Given the description of an element on the screen output the (x, y) to click on. 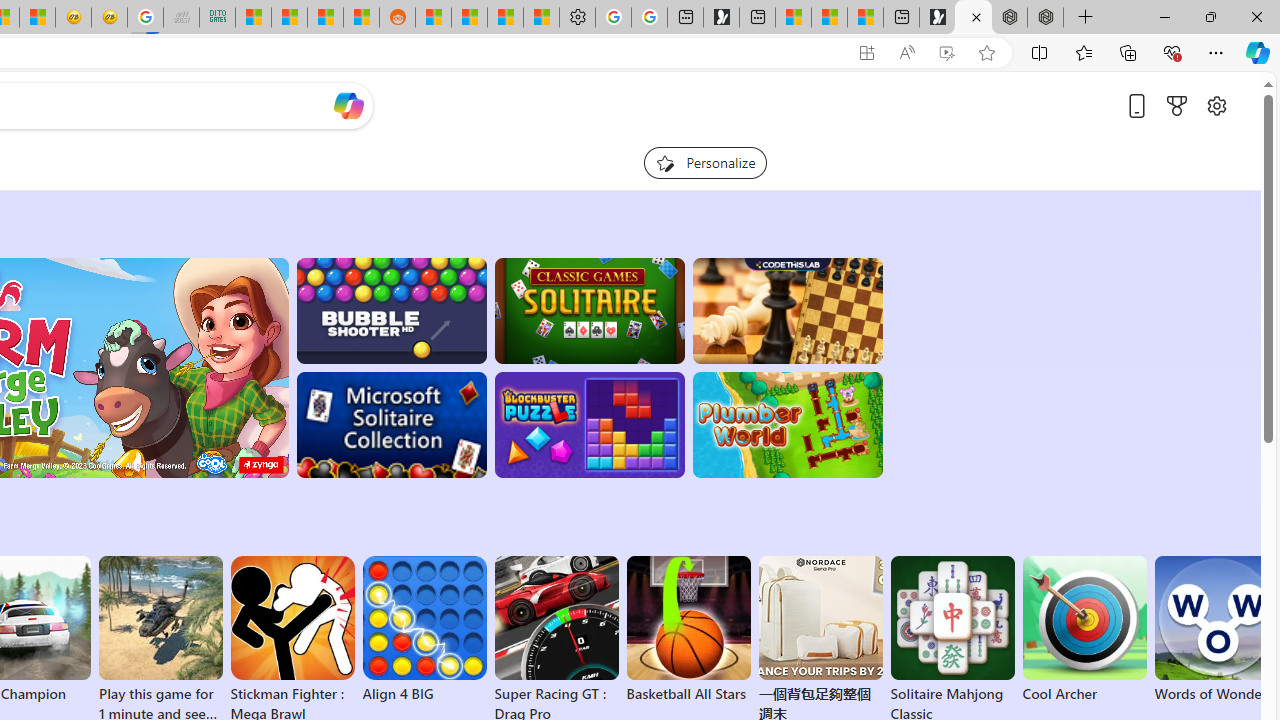
Words of Wonders (1216, 629)
BlockBuster: Adventures Puzzle (589, 425)
